Given the description of an element on the screen output the (x, y) to click on. 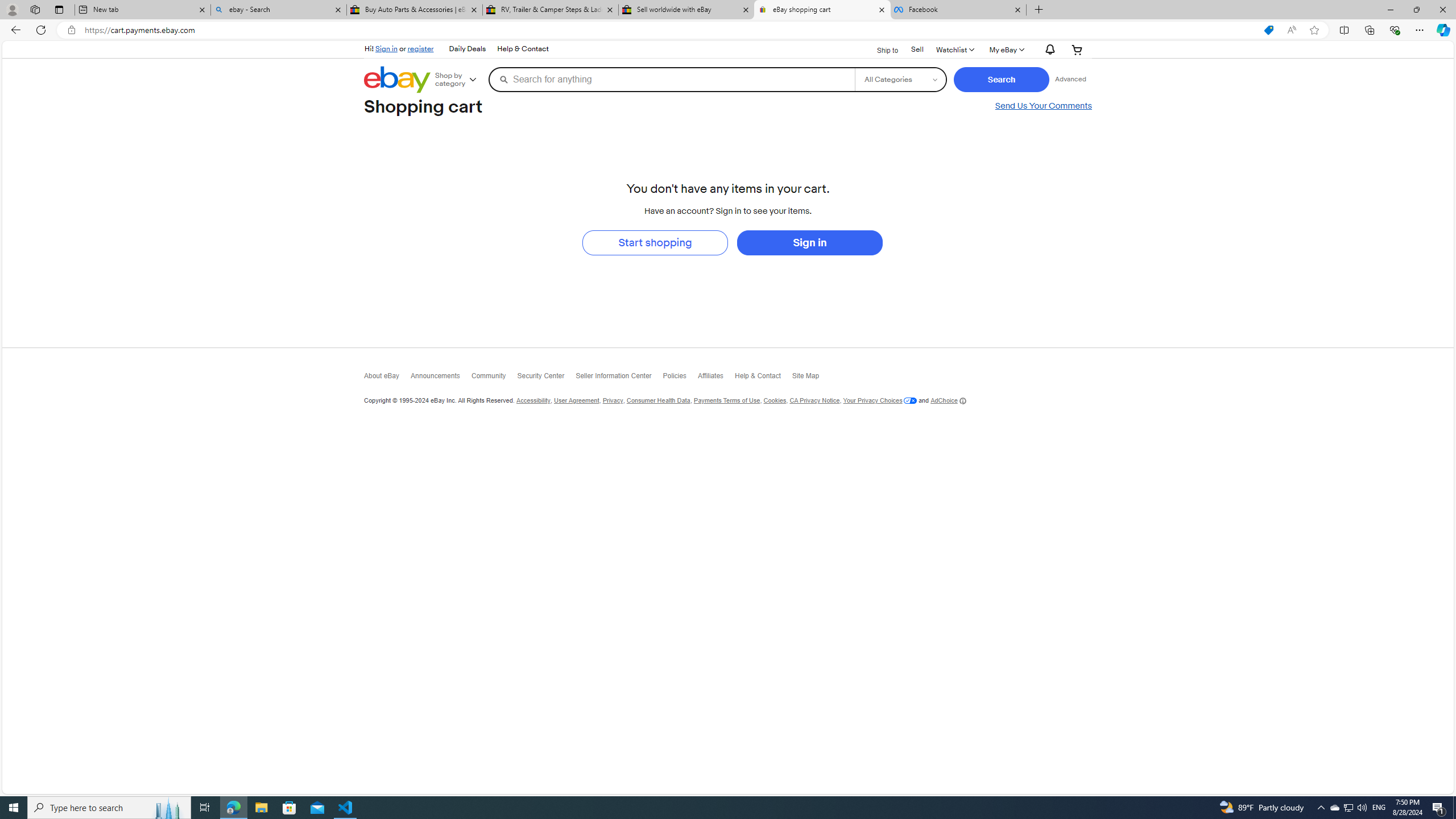
Announcements (440, 378)
Advanced Search (1070, 78)
Affiliates (716, 377)
Sign in (386, 48)
